Given the description of an element on the screen output the (x, y) to click on. 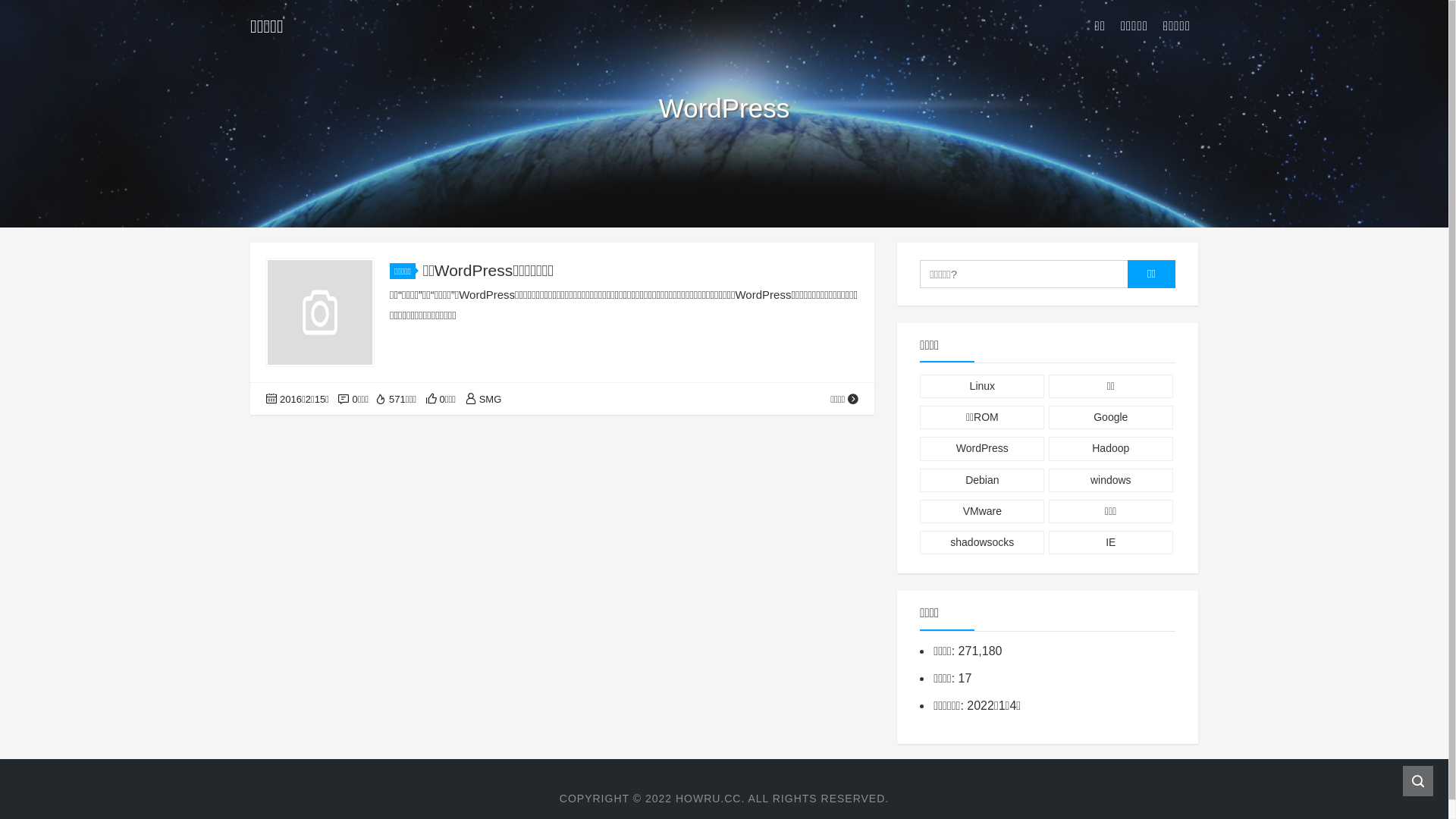
Linux Element type: text (981, 386)
Google Element type: text (1110, 417)
shadowsocks Element type: text (981, 542)
IE Element type: text (1110, 542)
Debian Element type: text (981, 480)
VMware Element type: text (981, 511)
WordPress Element type: text (981, 448)
Hadoop Element type: text (1110, 448)
windows Element type: text (1110, 480)
